Given the description of an element on the screen output the (x, y) to click on. 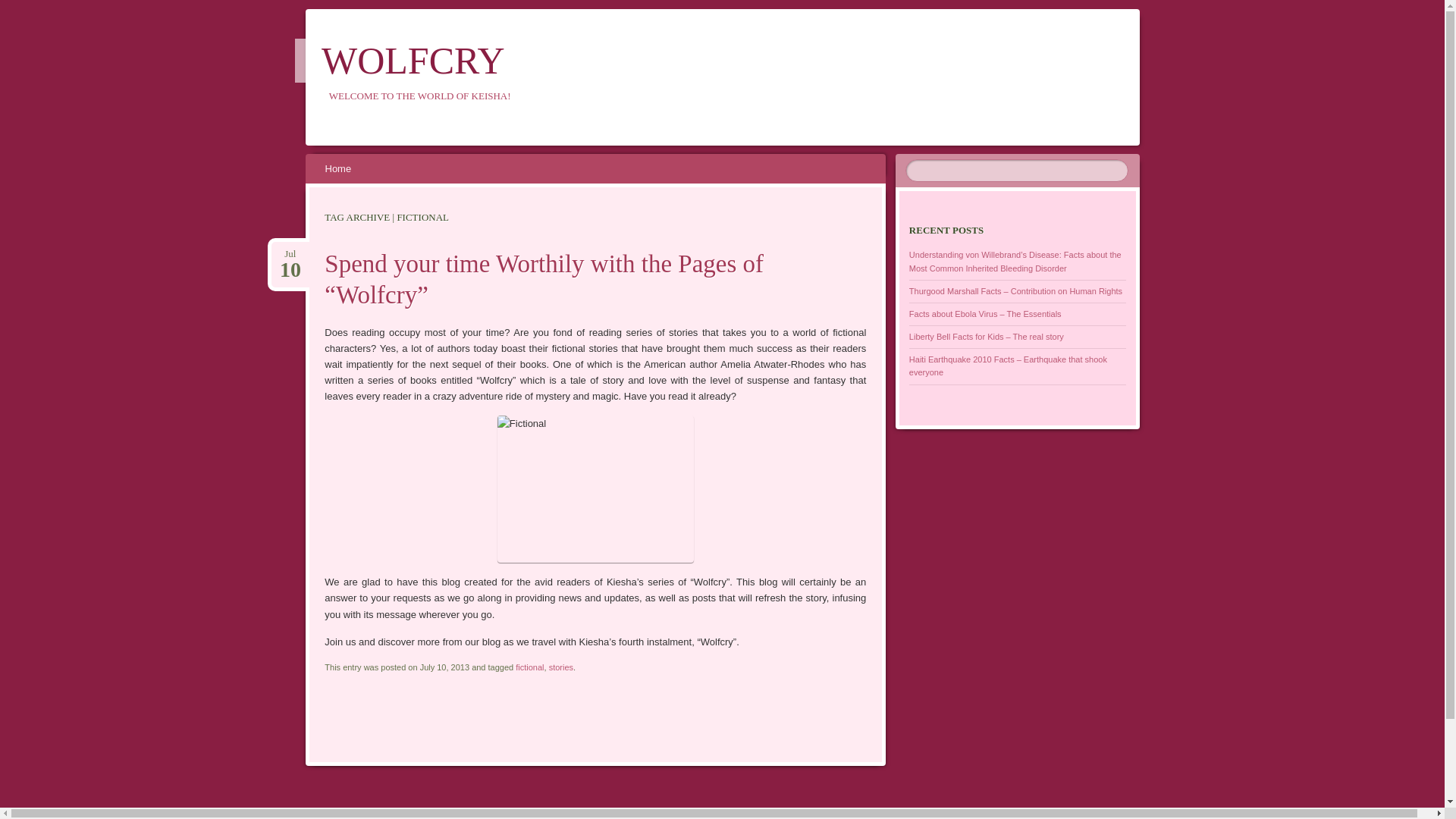
Wolfcry (413, 60)
WOLFCRY (413, 60)
fictional (529, 666)
July 10, 2013 (289, 254)
Search (289, 254)
stories (21, 7)
Home (560, 666)
Skip to content (338, 168)
Skip to content (347, 168)
